Given the description of an element on the screen output the (x, y) to click on. 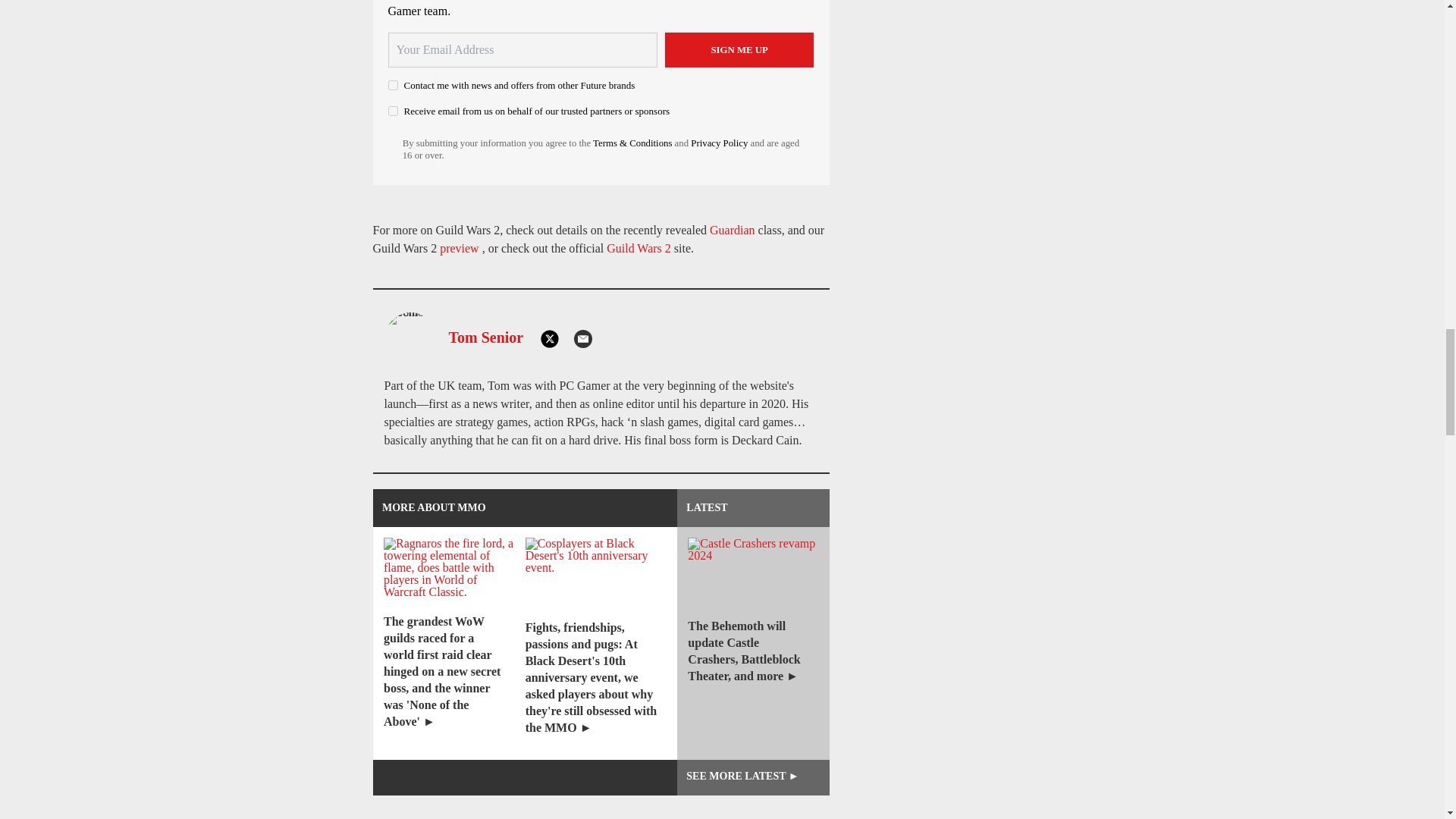
on (392, 111)
Sign me up (739, 49)
on (392, 85)
